Given the description of an element on the screen output the (x, y) to click on. 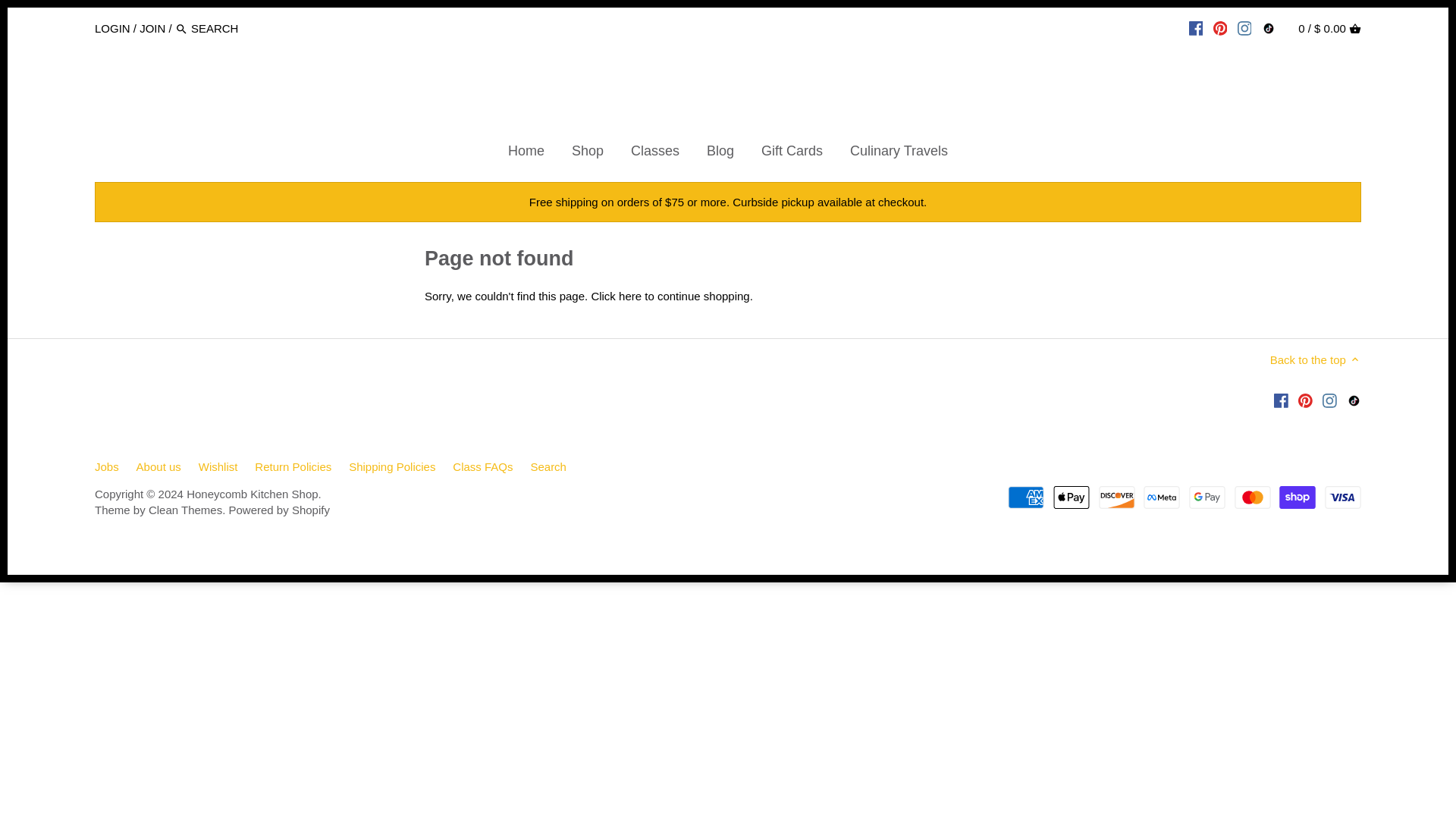
Back to the top (1315, 358)
Class FAQs (482, 466)
Visa (1342, 497)
Shop Pay (1297, 497)
Facebook (1281, 399)
Shop (587, 153)
TikTok logo (1353, 399)
INSTAGRAM (1244, 28)
Facebook (1281, 399)
PINTEREST (1219, 28)
Classes (655, 153)
Meta Pay (1160, 497)
LOGIN (112, 27)
CART (1355, 28)
Culinary Travels (897, 153)
